Given the description of an element on the screen output the (x, y) to click on. 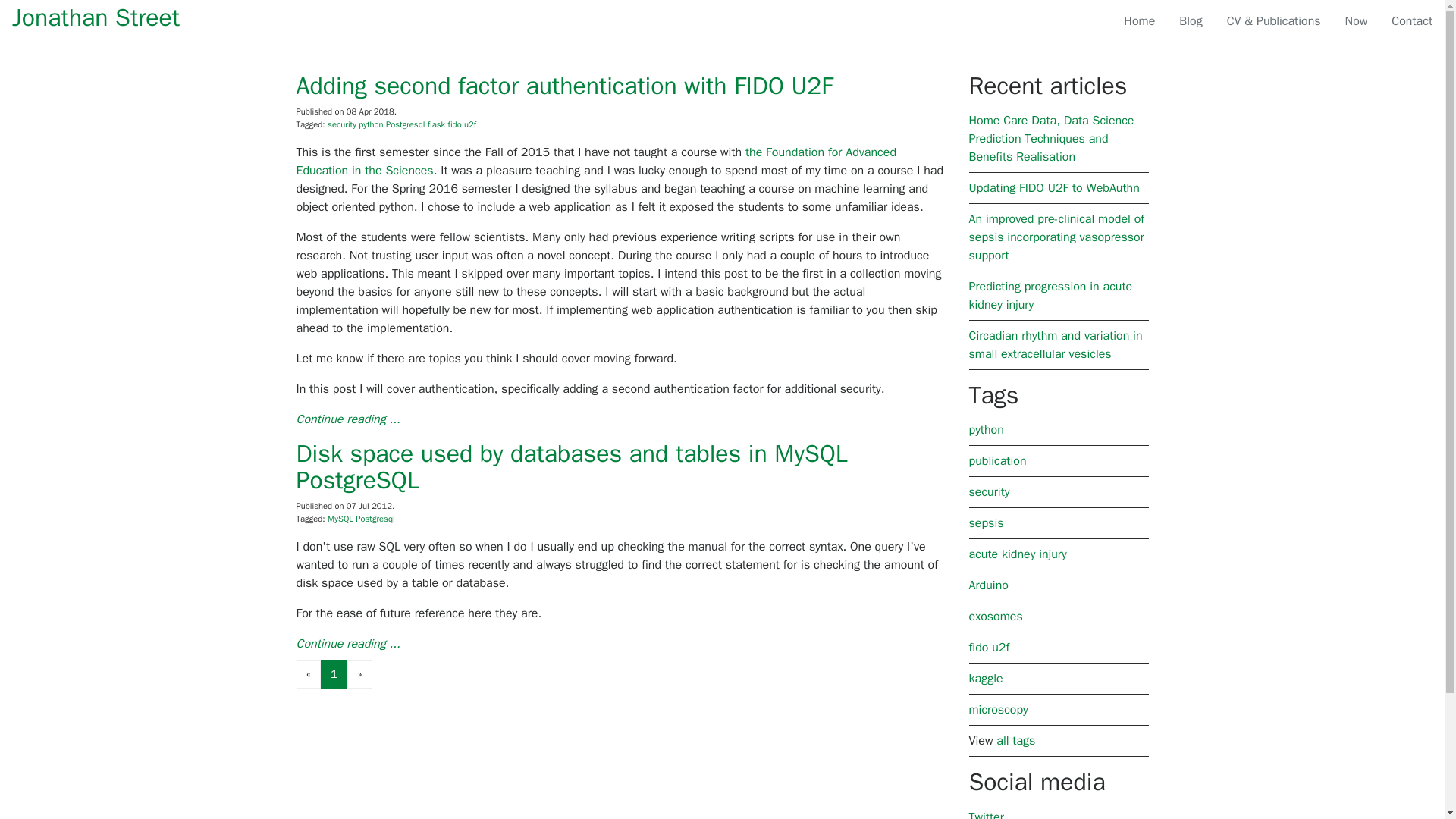
kaggle (986, 678)
Predicting progression in acute kidney injury (1050, 295)
Twitter (986, 814)
Continue reading ... (346, 418)
Continue reading ... (346, 643)
microscopy (998, 709)
publication (997, 460)
Arduino (989, 585)
